Given the description of an element on the screen output the (x, y) to click on. 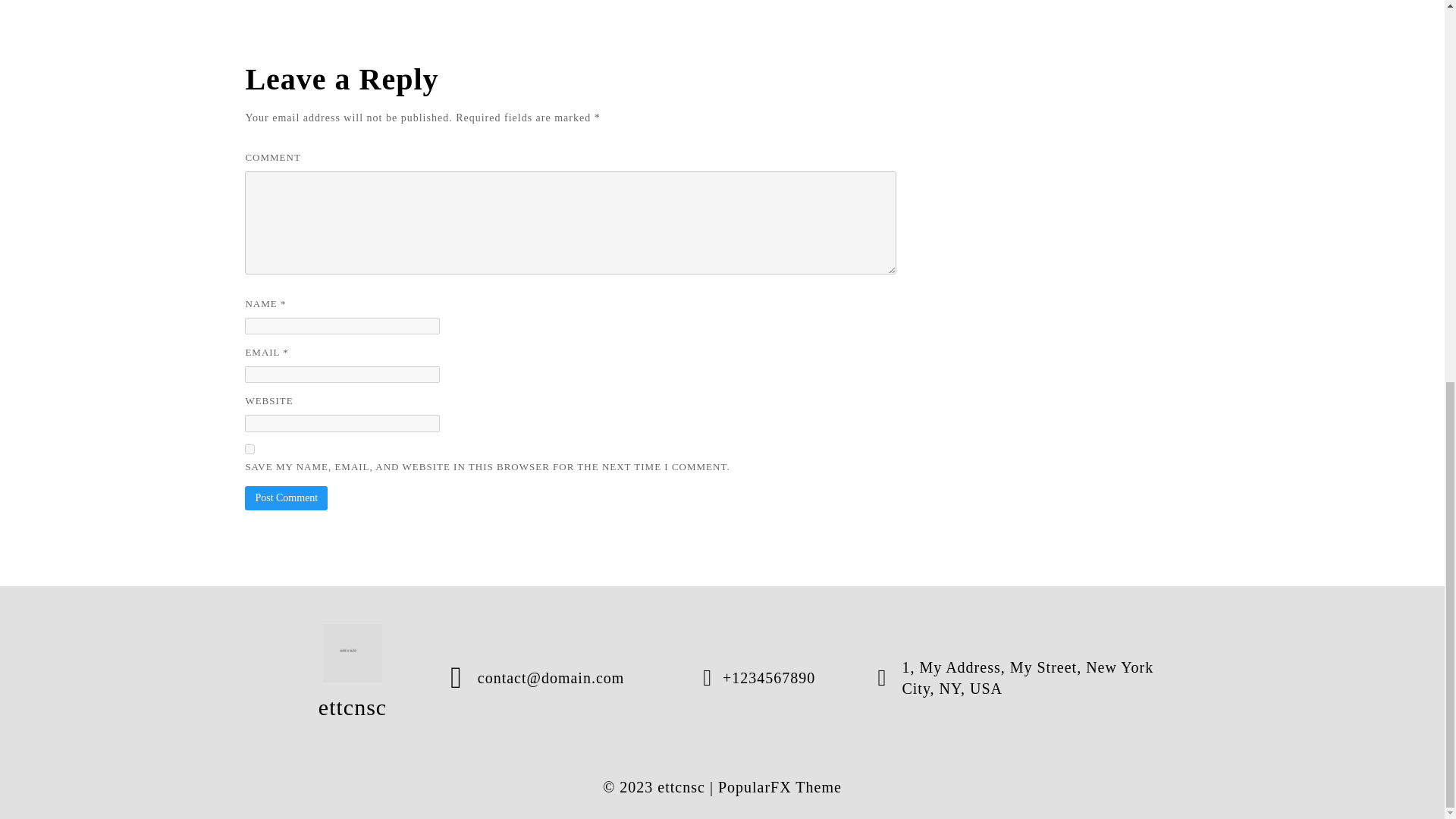
ettcnsc (352, 678)
logo (352, 652)
Post Comment (285, 498)
Post Comment (285, 498)
PopularFX Theme (779, 786)
yes (249, 449)
